Given the description of an element on the screen output the (x, y) to click on. 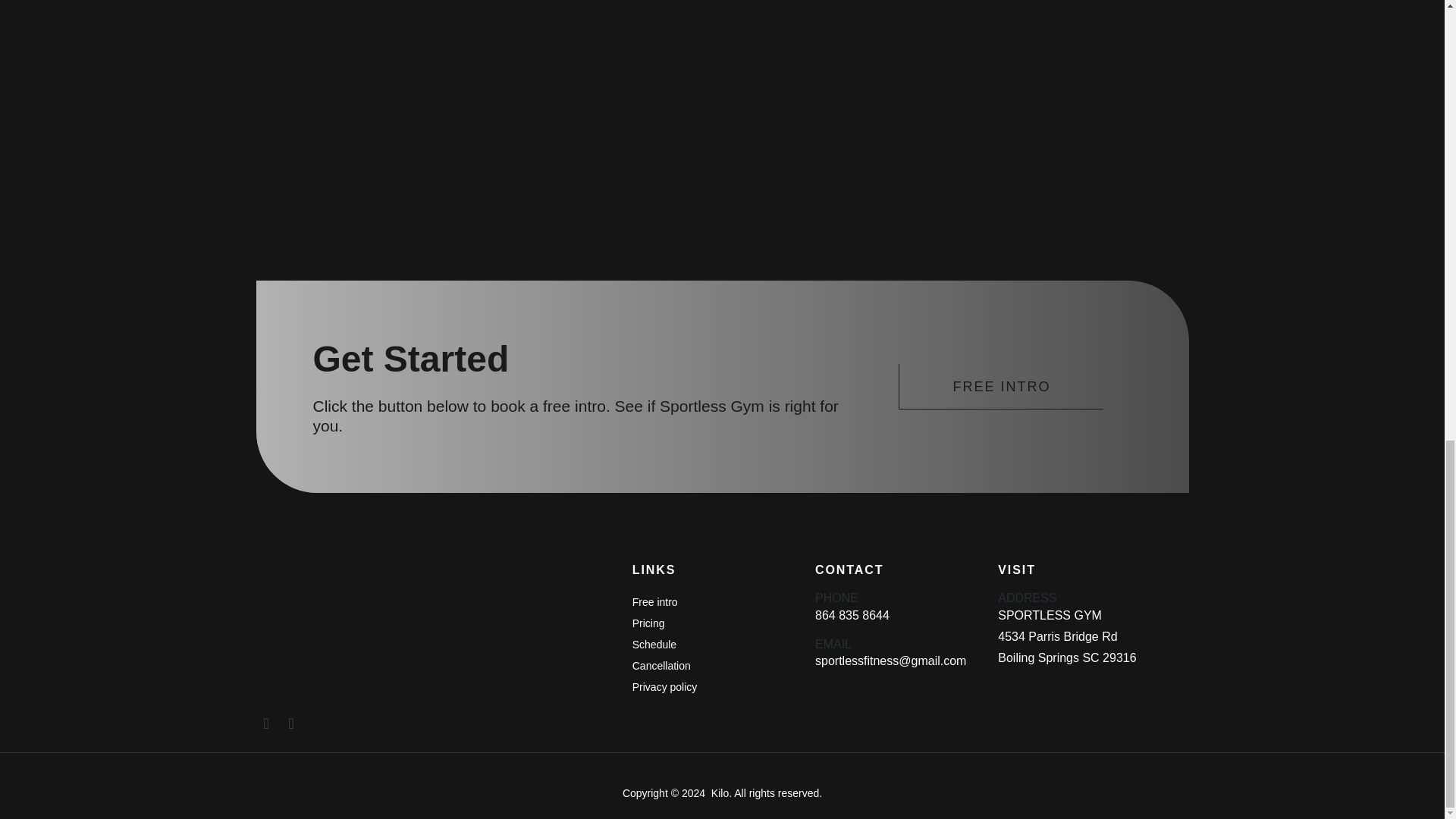
FREE INTRO (1000, 386)
Free intro (654, 602)
Pricing (648, 623)
